Given the description of an element on the screen output the (x, y) to click on. 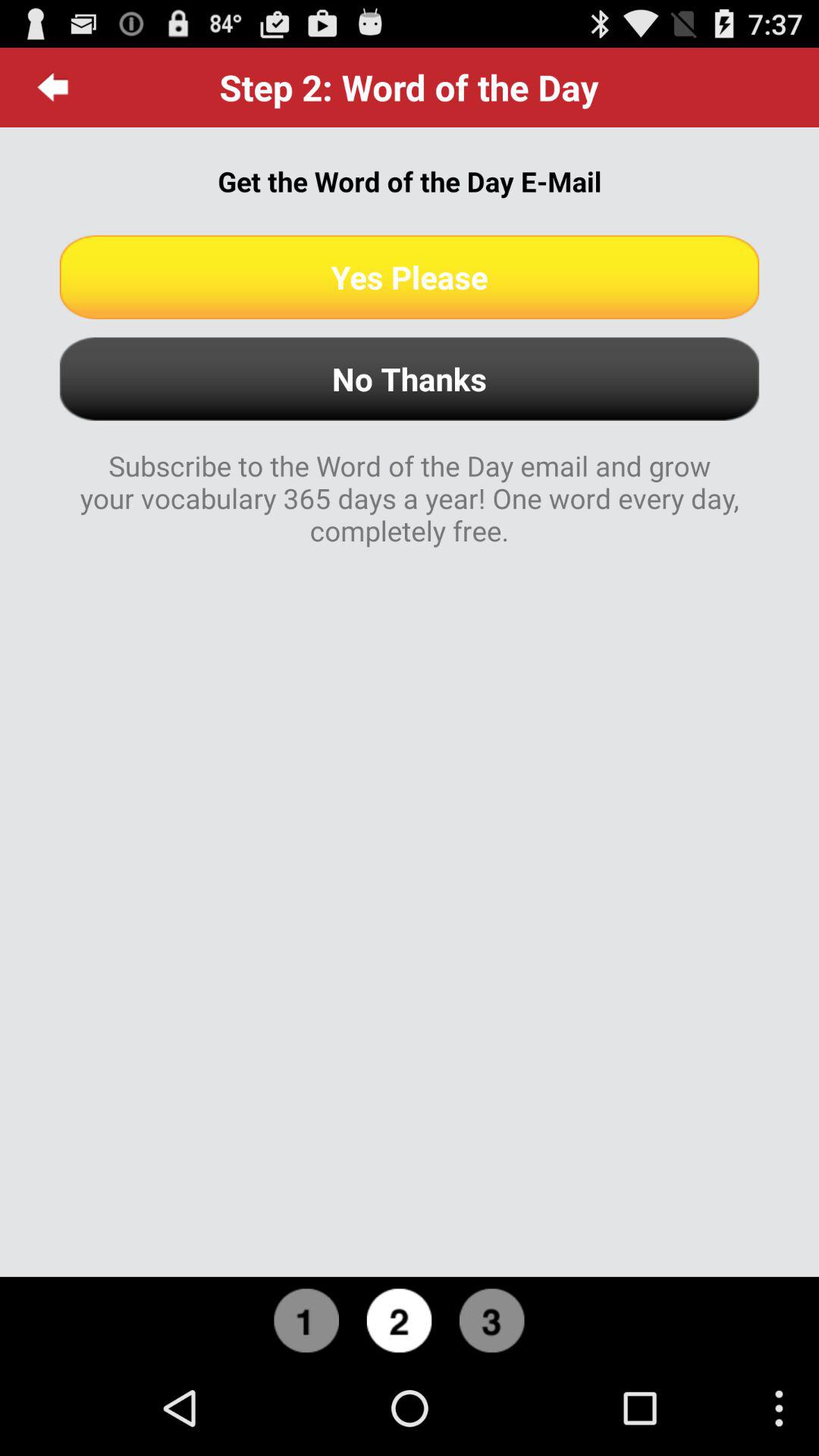
turn off icon above get the word icon (53, 87)
